Given the description of an element on the screen output the (x, y) to click on. 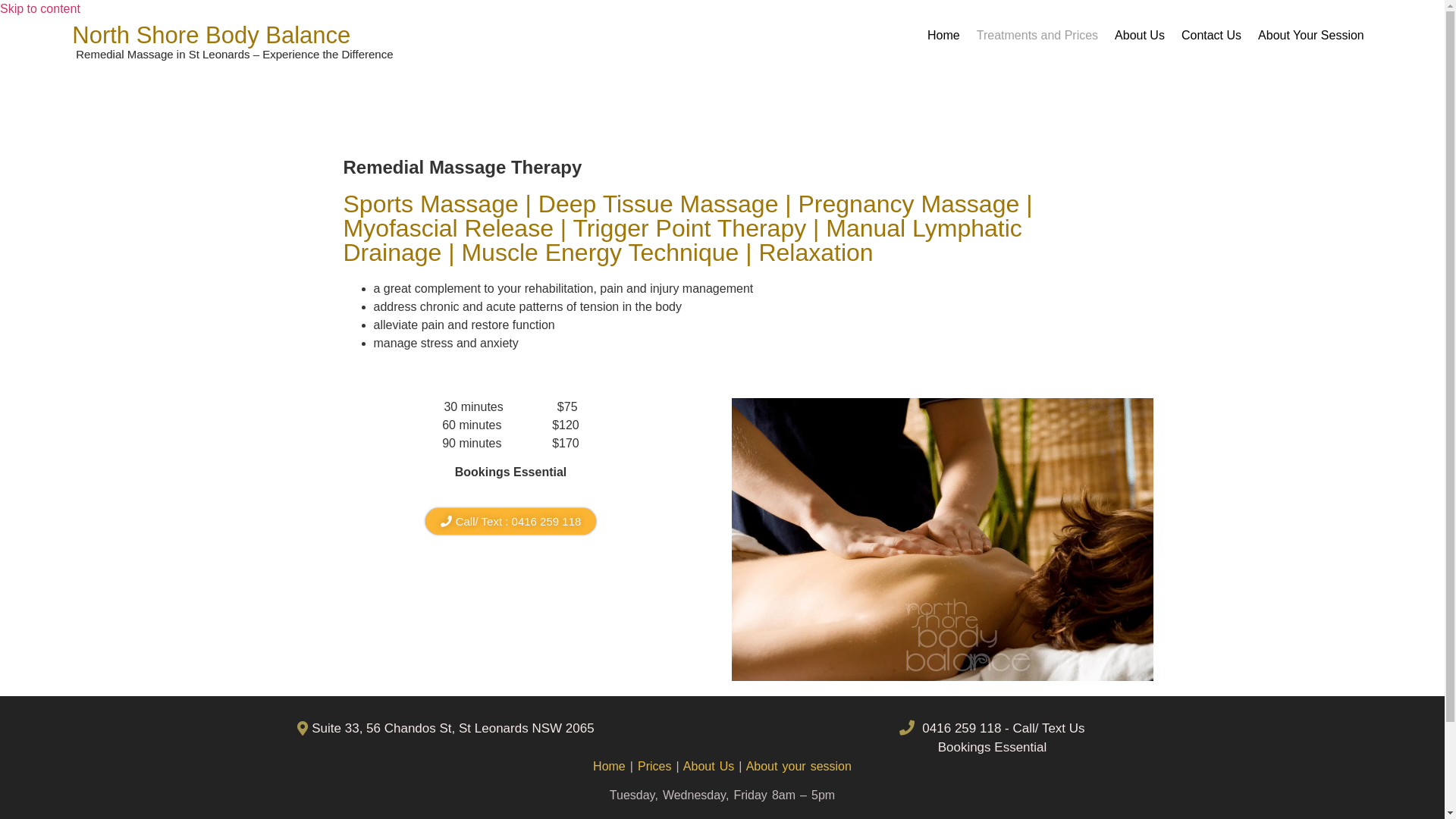
Home Element type: text (943, 35)
Call/ Text : 0416 259 118 Element type: text (510, 521)
About your session Element type: text (798, 765)
 Prices Element type: text (652, 765)
0416 259 118 - Call/ Text Us Element type: text (991, 728)
Home Element type: text (609, 765)
About Us Element type: text (1139, 35)
Contact Us Element type: text (1211, 35)
Treatments and Prices Element type: text (1037, 35)
About Your Session Element type: text (1310, 35)
Skip to content Element type: text (40, 8)
About Us Element type: text (708, 765)
Suite 33, 56 Chandos St, St Leonards NSW 2065 Element type: text (559, 728)
